Given the description of an element on the screen output the (x, y) to click on. 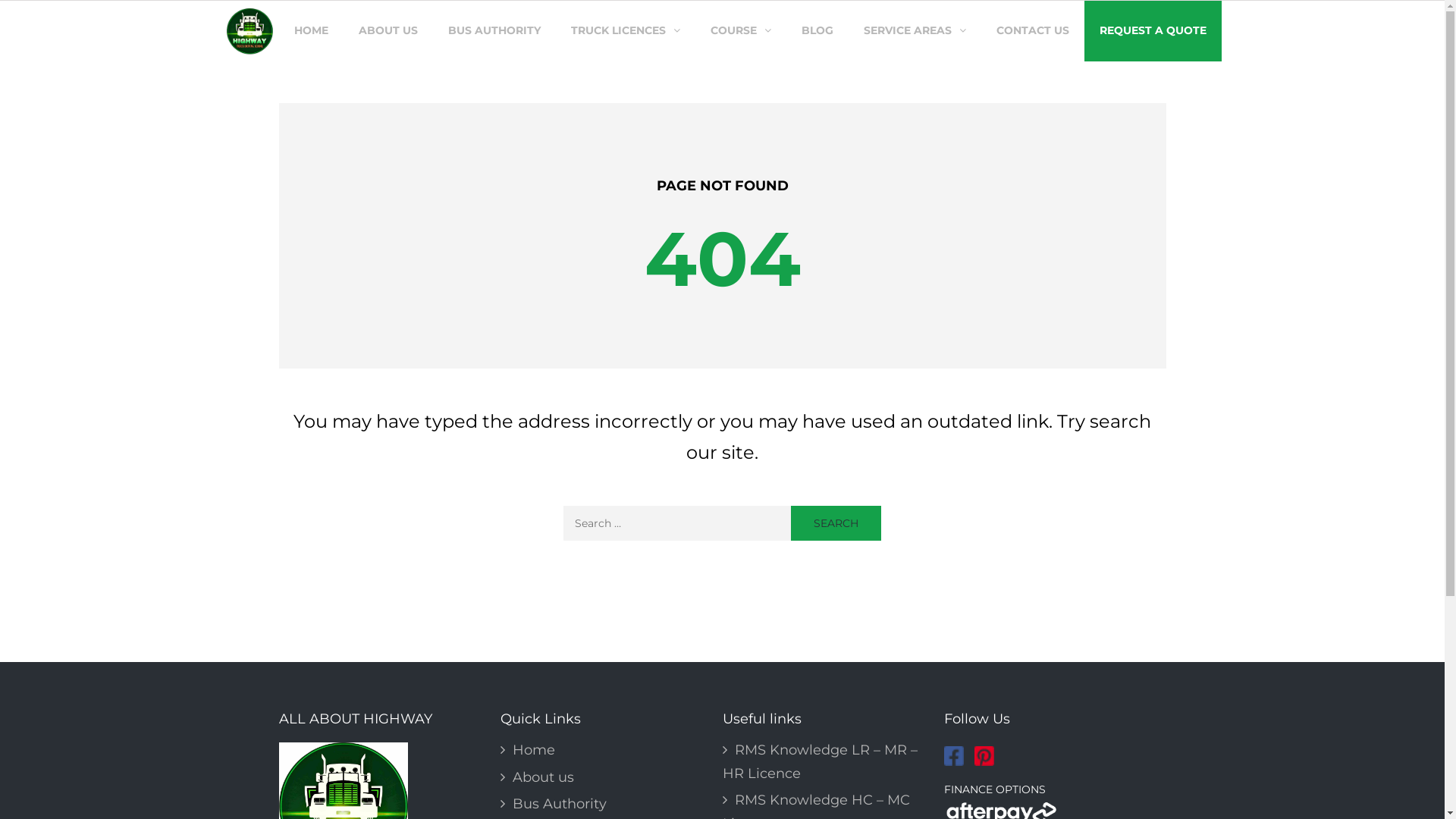
About us Element type: text (537, 776)
HOME Element type: text (311, 30)
SERVICE AREAS Element type: text (913, 30)
Home Element type: text (527, 749)
Bus Authority Element type: text (553, 803)
BLOG Element type: text (816, 30)
TRUCK LICENCES Element type: text (624, 30)
Search Element type: text (835, 522)
BUS AUTHORITY Element type: text (493, 30)
ABOUT US Element type: text (387, 30)
CONTACT US Element type: text (1032, 30)
COURSE Element type: text (739, 30)
REQUEST A QUOTE Element type: text (1152, 30)
